Given the description of an element on the screen output the (x, y) to click on. 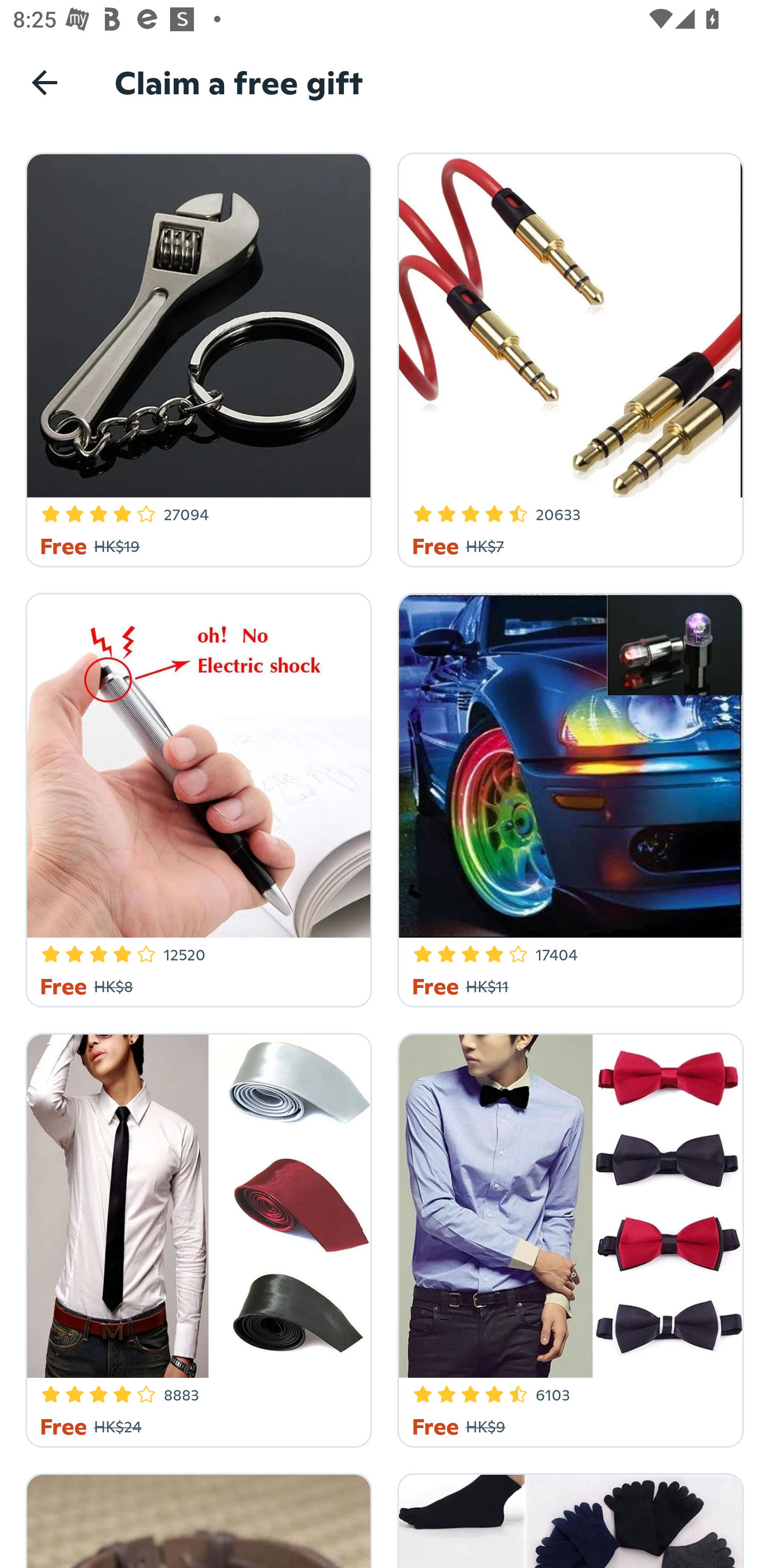
Navigate up (44, 82)
4 Star Rating 27094 Free HK$19 (195, 356)
4.3 Star Rating 20633 Free HK$7 (566, 356)
3.9 Star Rating 12520 Free HK$8 (195, 797)
3.8 Star Rating 17404 Free HK$11 (566, 797)
4.2 Star Rating 8883 Free HK$24 (195, 1237)
4.4 Star Rating 6103 Free HK$9 (566, 1237)
